Given the description of an element on the screen output the (x, y) to click on. 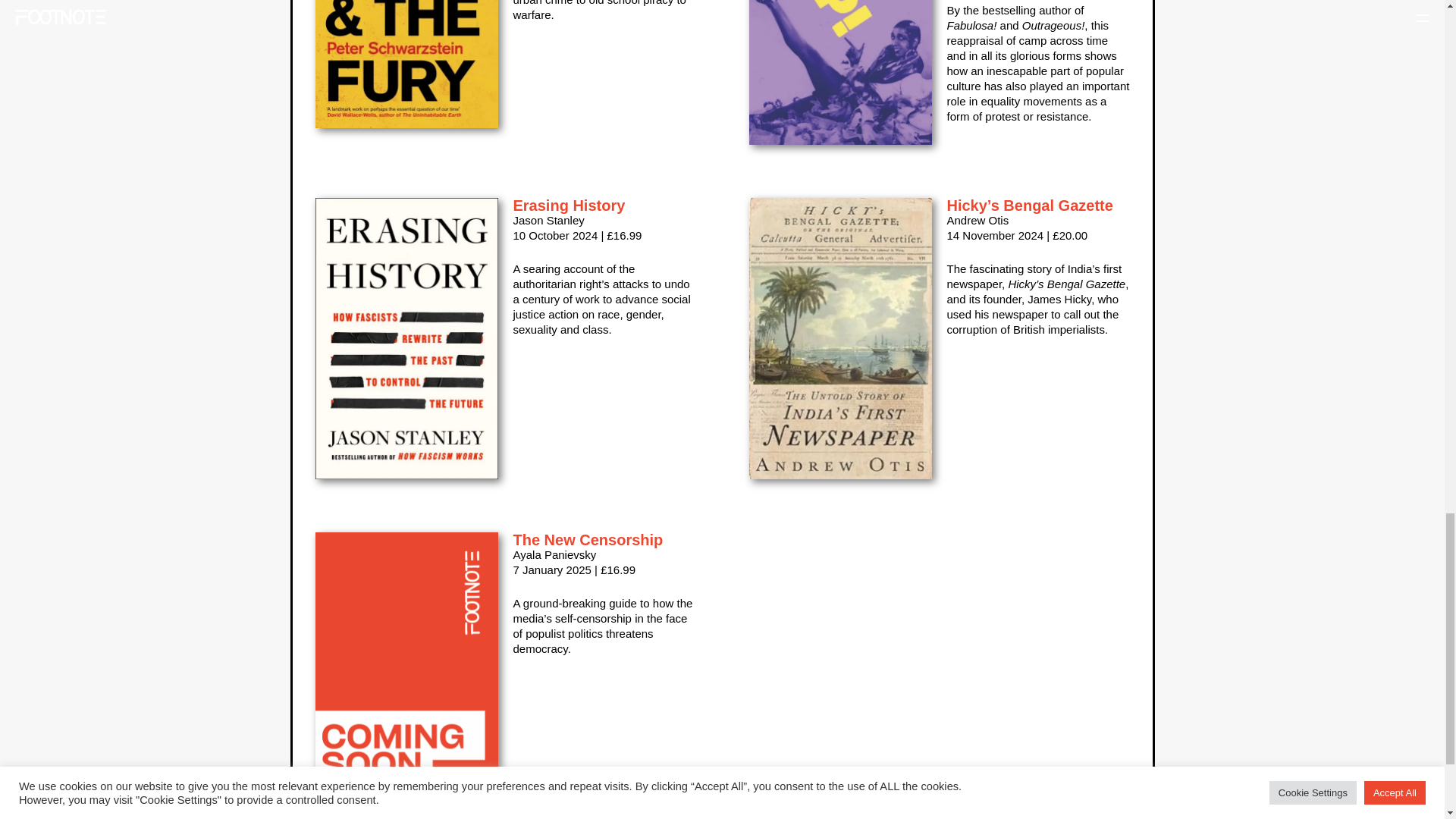
9781804441572 (406, 63)
The New Censorship (587, 539)
Erasing History (568, 205)
